Given the description of an element on the screen output the (x, y) to click on. 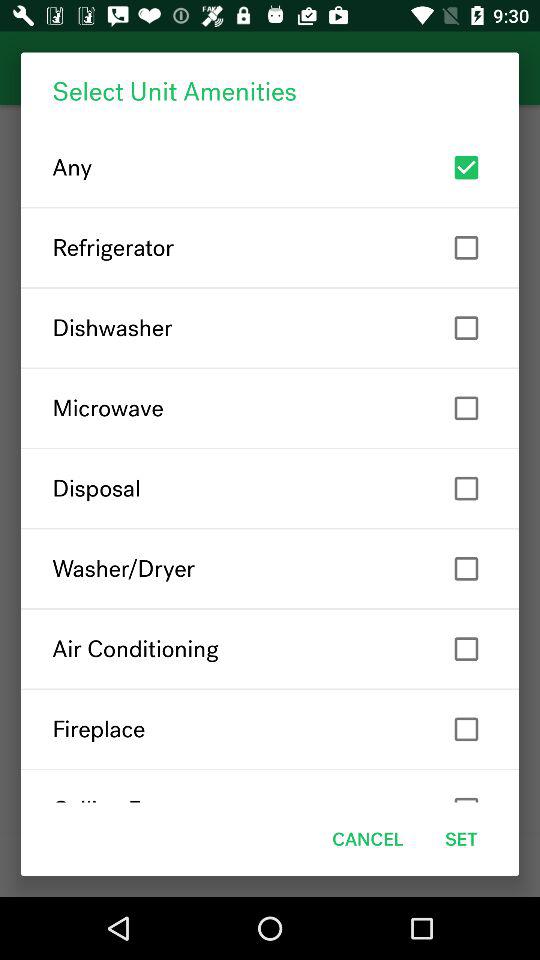
choose the refrigerator (270, 247)
